Given the description of an element on the screen output the (x, y) to click on. 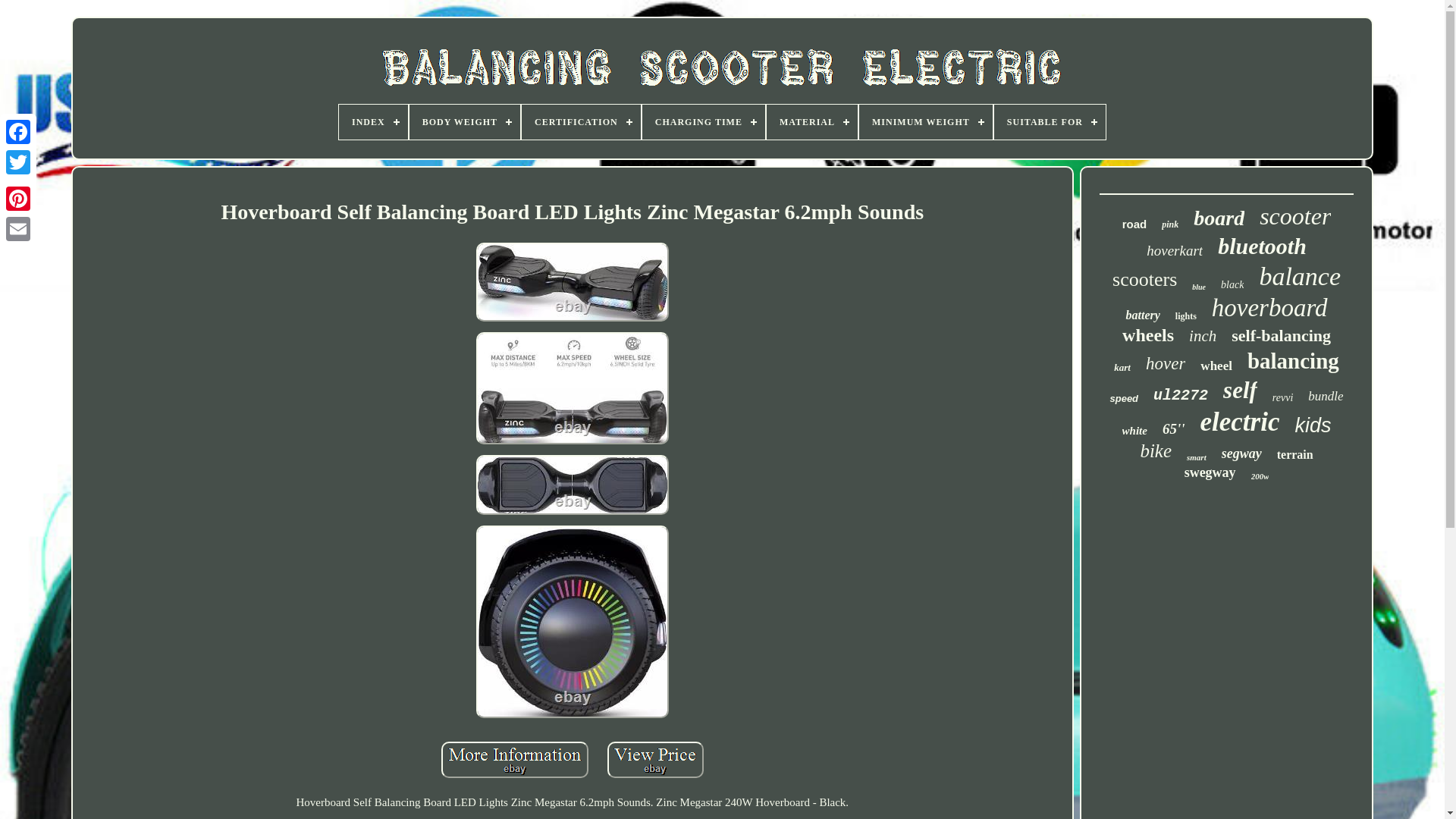
CERTIFICATION (580, 121)
CHARGING TIME (703, 121)
BODY WEIGHT (464, 121)
INDEX (373, 121)
